Given the description of an element on the screen output the (x, y) to click on. 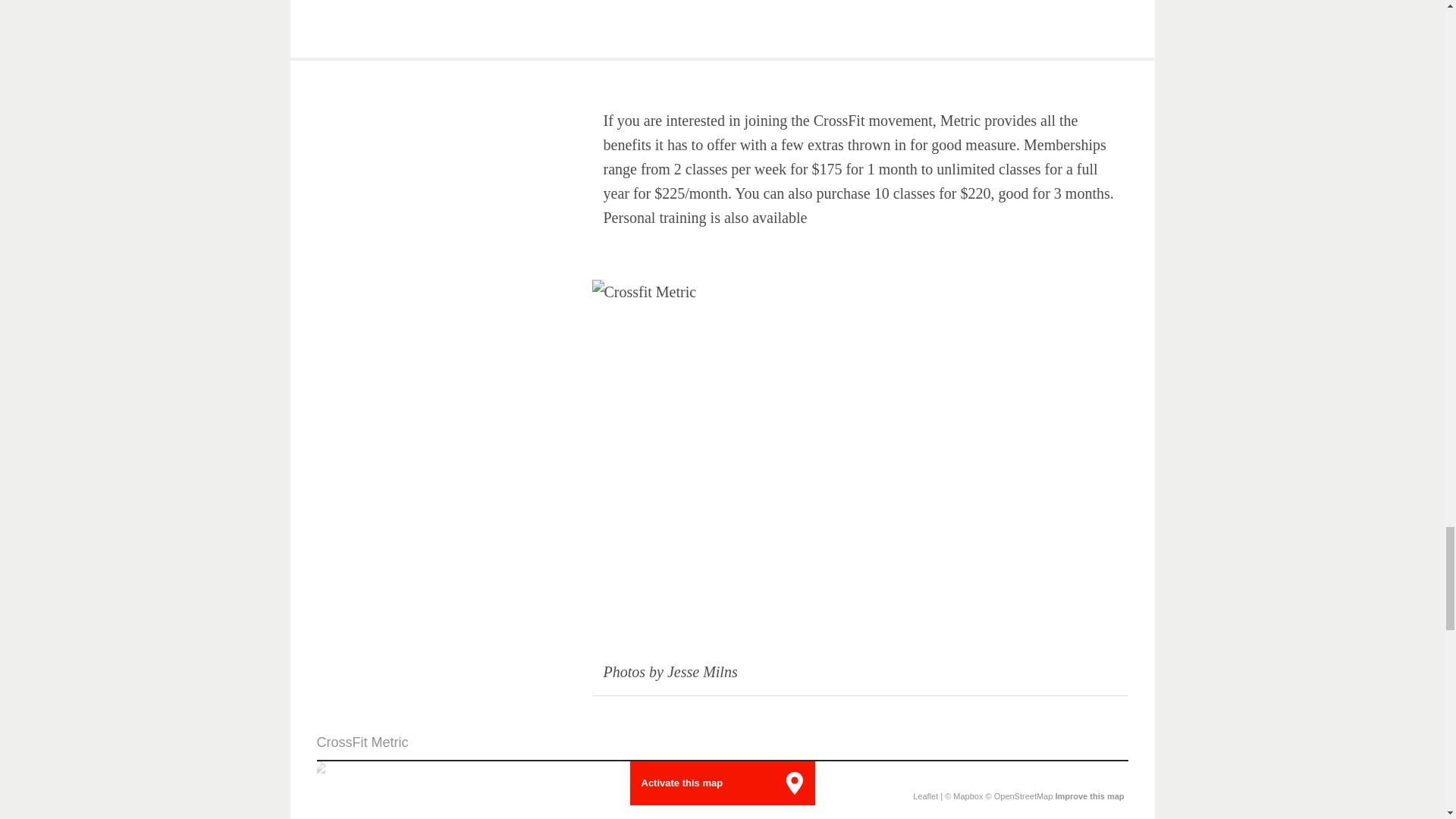
Mapbox (967, 795)
Improve this map (1089, 795)
Leaflet (924, 795)
A JS library for interactive maps (924, 795)
Activate this map (682, 782)
OpenStreetMap (1023, 795)
